Given the description of an element on the screen output the (x, y) to click on. 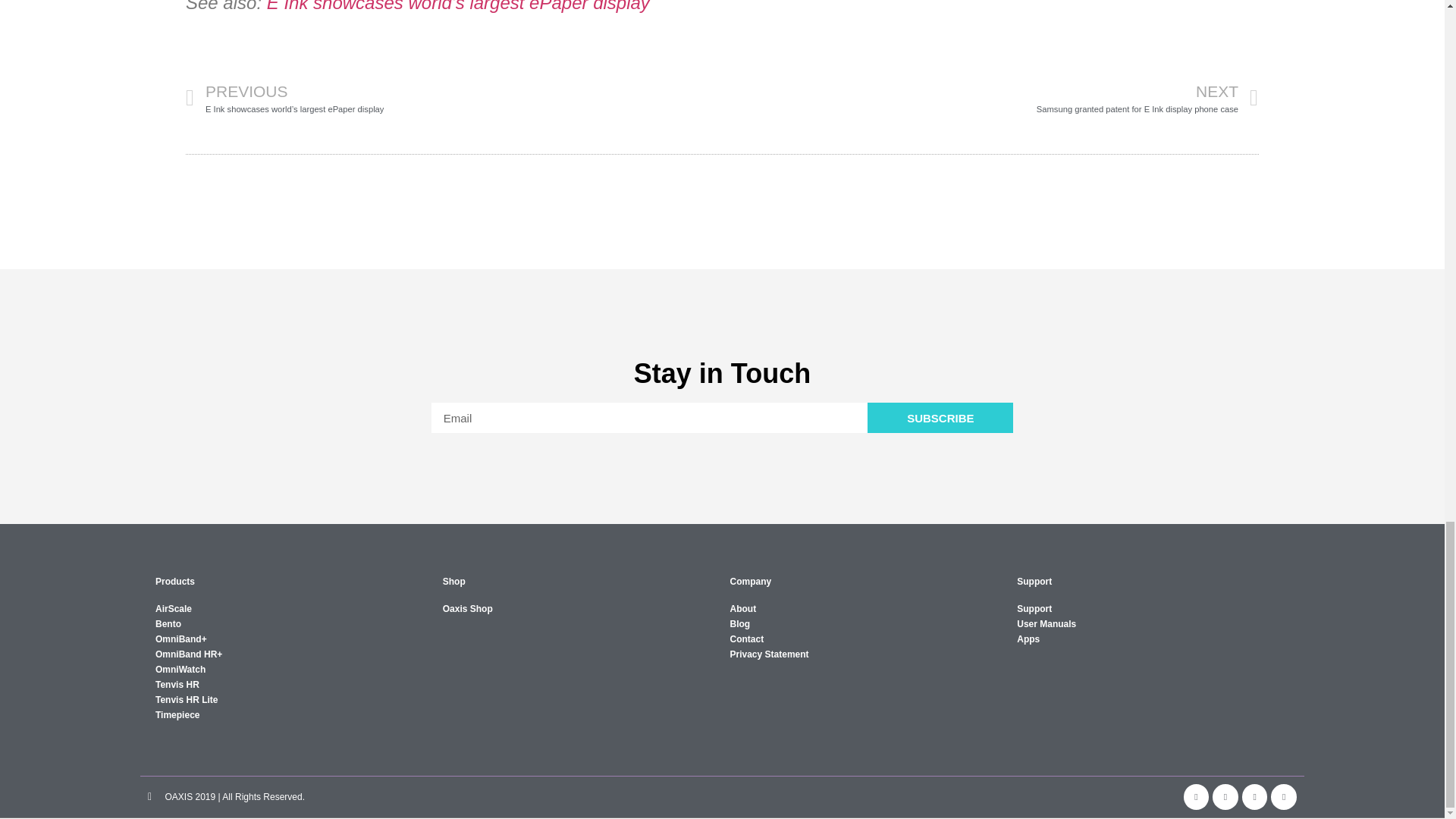
SUBSCRIBE (940, 417)
AirScale (291, 608)
Bento (989, 97)
